Given the description of an element on the screen output the (x, y) to click on. 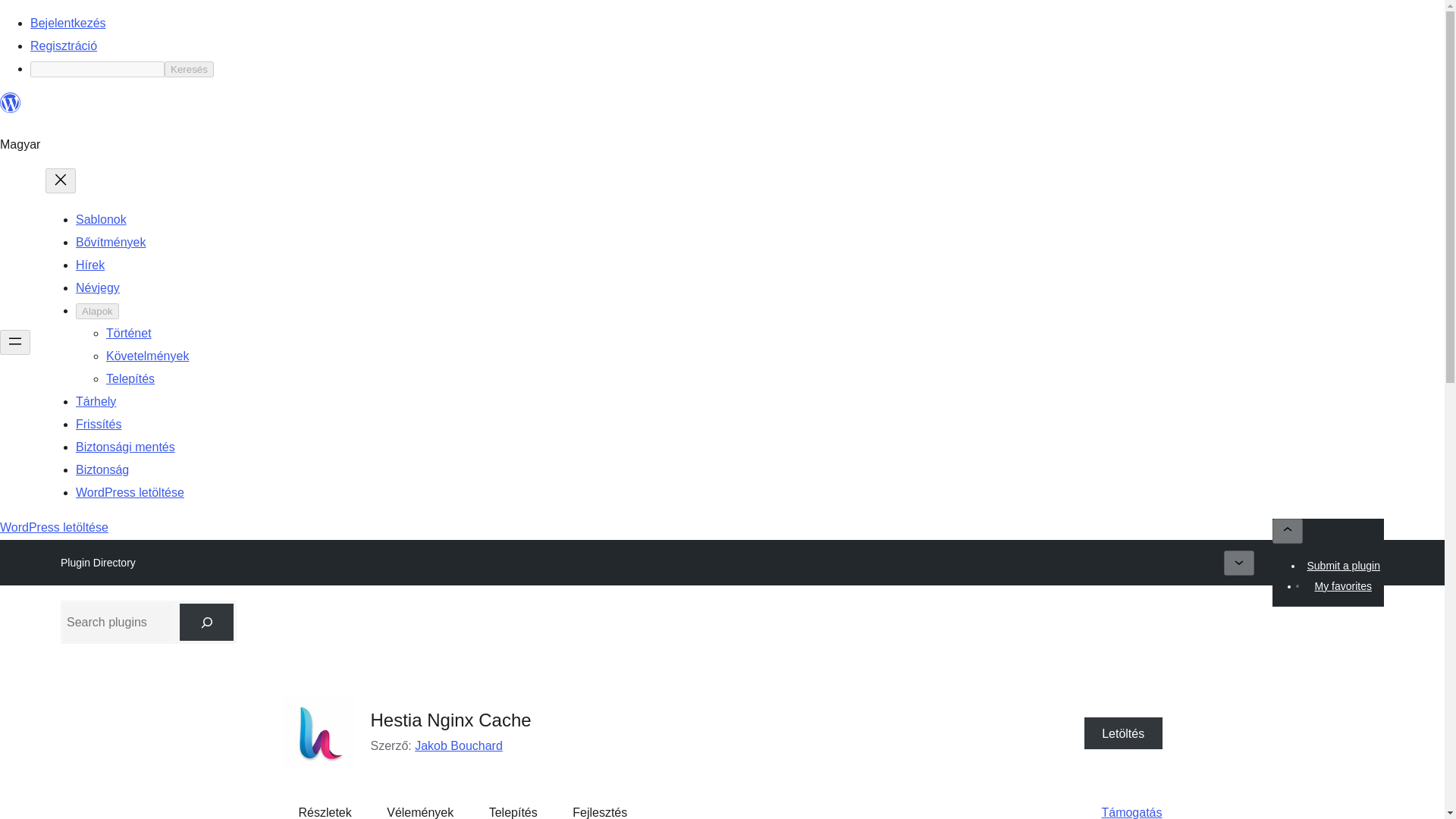
Jakob Bouchard (458, 745)
Alapok (97, 311)
Submit a plugin (1343, 565)
Sablonok (100, 219)
My favorites (1342, 586)
WordPress.org (10, 109)
WordPress.org (10, 102)
Plugin Directory (97, 562)
